Given the description of an element on the screen output the (x, y) to click on. 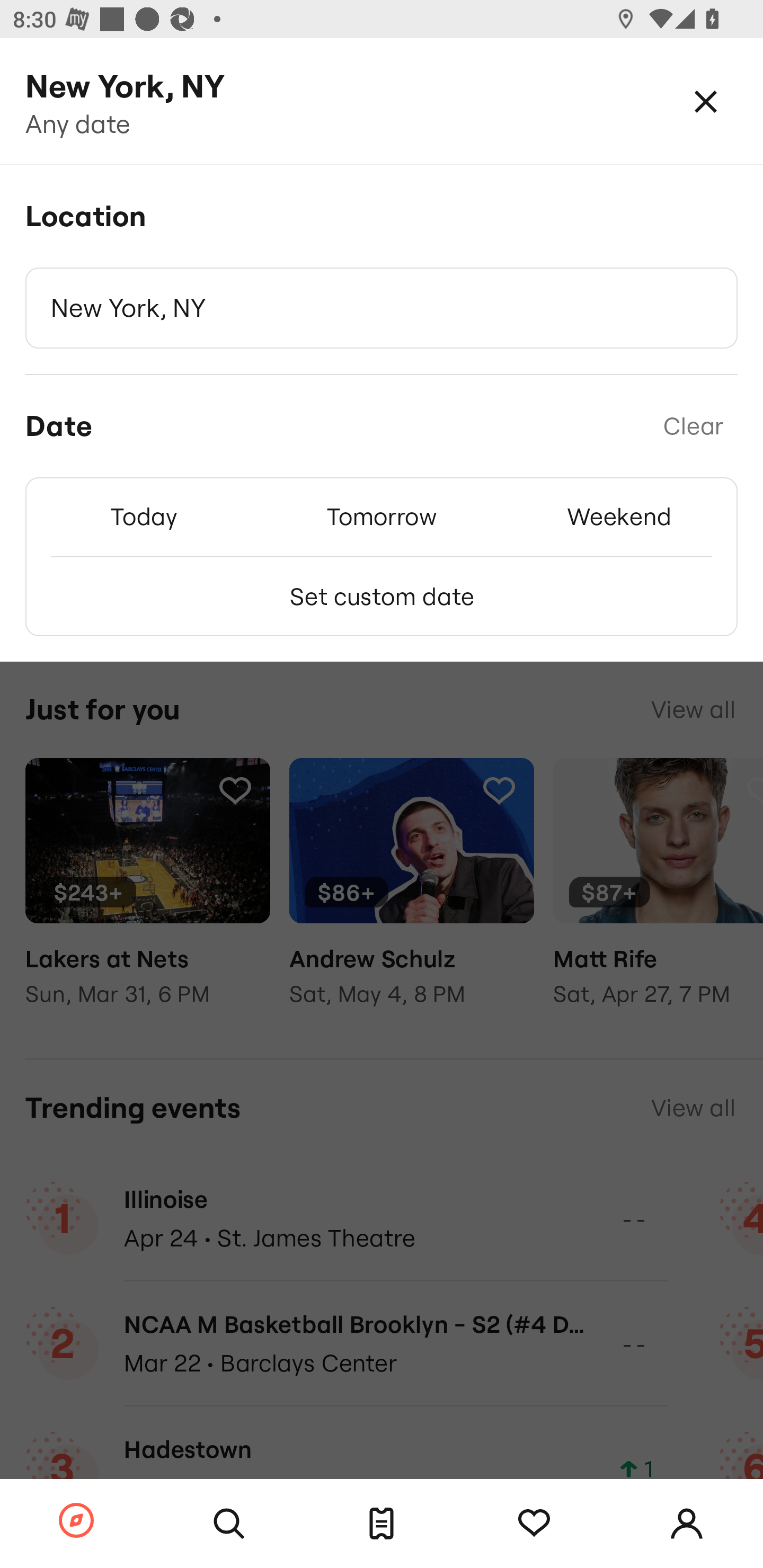
Close (705, 100)
New York, NY (381, 308)
Clear (693, 426)
Today (143, 516)
Tomorrow (381, 516)
Weekend (618, 516)
Set custom date (381, 596)
Browse (76, 1521)
Search (228, 1523)
Tickets (381, 1523)
Tracking (533, 1523)
Account (686, 1523)
